Given the description of an element on the screen output the (x, y) to click on. 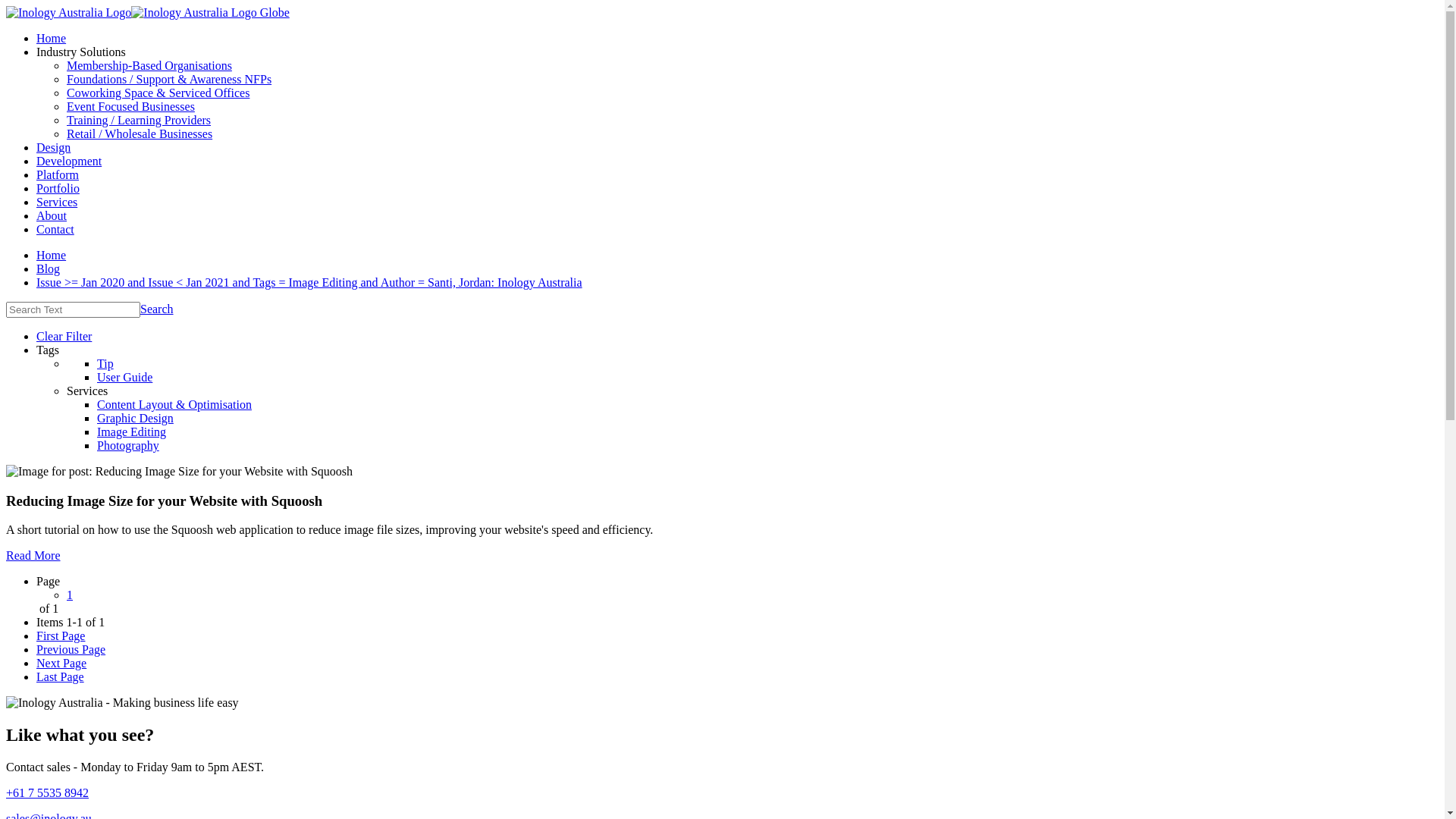
First Page Element type: text (60, 635)
Next Page Element type: text (61, 662)
Search Element type: text (156, 308)
Blog Element type: text (47, 268)
Design Element type: text (53, 147)
Tip Element type: text (105, 363)
User Guide Element type: text (124, 376)
Photography Element type: text (128, 445)
Read More Element type: text (33, 555)
Event Focused Businesses Element type: text (130, 106)
Graphic Design Element type: text (135, 417)
Development Element type: text (68, 160)
Home Element type: text (50, 254)
About Element type: text (51, 215)
+61 7 5535 8942 Element type: text (47, 792)
1 Element type: text (69, 594)
Image Editing Element type: text (131, 431)
Home Element type: text (50, 37)
Clear Filter Element type: text (63, 335)
Portfolio Element type: text (57, 188)
Content Layout & Optimisation Element type: text (174, 404)
Membership-Based Organisations Element type: text (149, 65)
Platform Element type: text (57, 174)
Training / Learning Providers Element type: text (138, 119)
Retail / Wholesale Businesses Element type: text (139, 133)
Previous Page Element type: text (70, 649)
Foundations / Support & Awareness NFPs Element type: text (168, 78)
Last Page Element type: text (60, 676)
Services Element type: text (56, 201)
Contact Element type: text (55, 228)
Coworking Space & Serviced Offices Element type: text (157, 92)
